Given the description of an element on the screen output the (x, y) to click on. 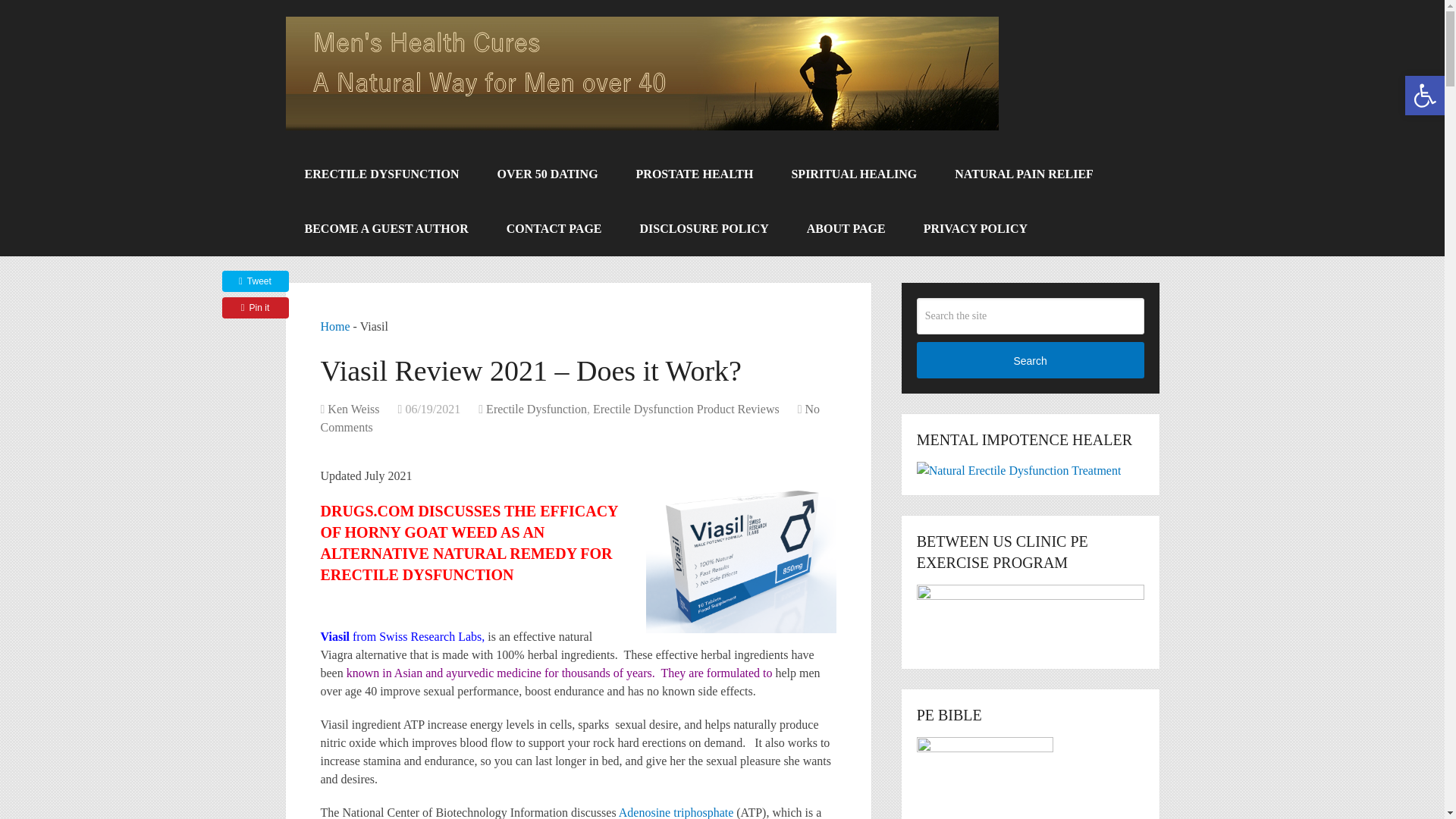
BECOME A GUEST AUTHOR (385, 228)
Home (334, 326)
ABOUT PAGE (845, 228)
Accessibility Tools (1424, 95)
PROSTATE HEALTH (695, 174)
Erectile Dysfunction Product Reviews (685, 408)
SPIRITUAL HEALING (853, 174)
DISCLOSURE POLICY (703, 228)
Adenosine triphosphate (675, 812)
View all posts in Erectile Dysfunction (536, 408)
PRIVACY POLICY (975, 228)
ERECTILE DYSFUNCTION (381, 174)
Erectile Dysfunction (536, 408)
Ken Weiss (352, 408)
